Given the description of an element on the screen output the (x, y) to click on. 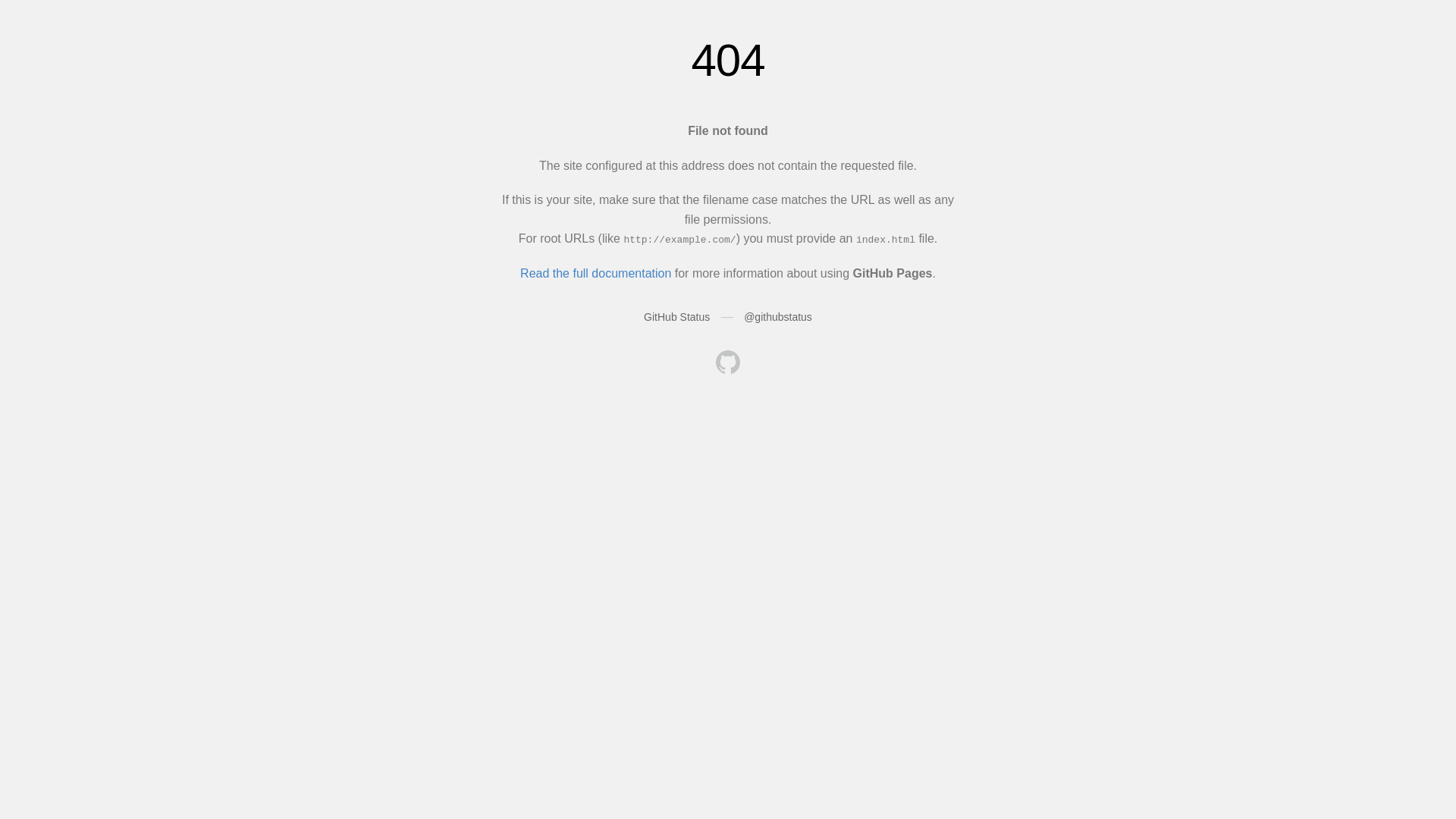
Read the full documentation Element type: text (595, 272)
@githubstatus Element type: text (777, 316)
GitHub Status Element type: text (676, 316)
